Given the description of an element on the screen output the (x, y) to click on. 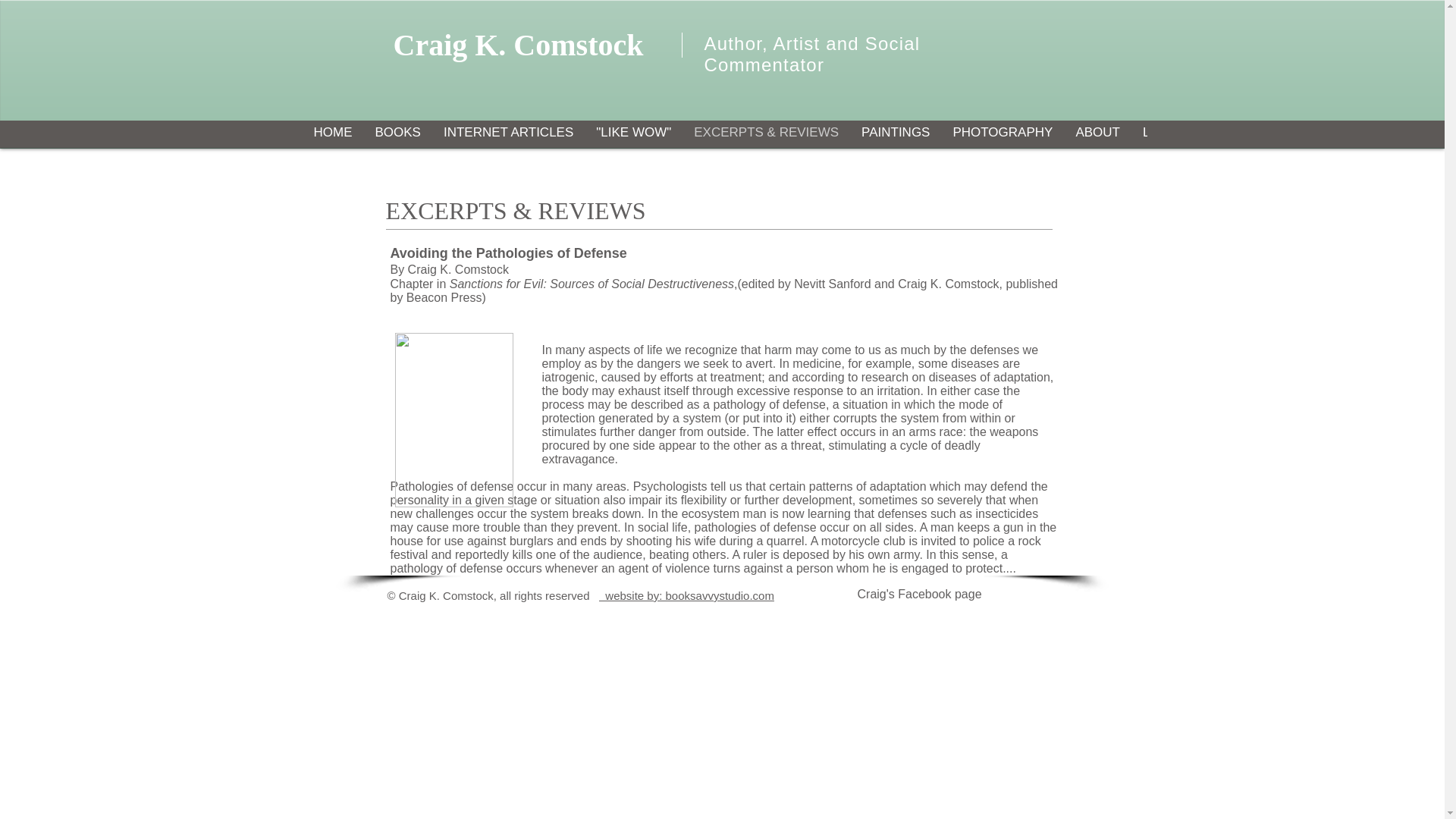
PAINTINGS (895, 135)
"LIKE WOW" (633, 135)
PHOTOGRAPHY (1002, 135)
BOOKS (398, 135)
HOME (331, 135)
INTERNET ARTICLES (508, 135)
